Given the description of an element on the screen output the (x, y) to click on. 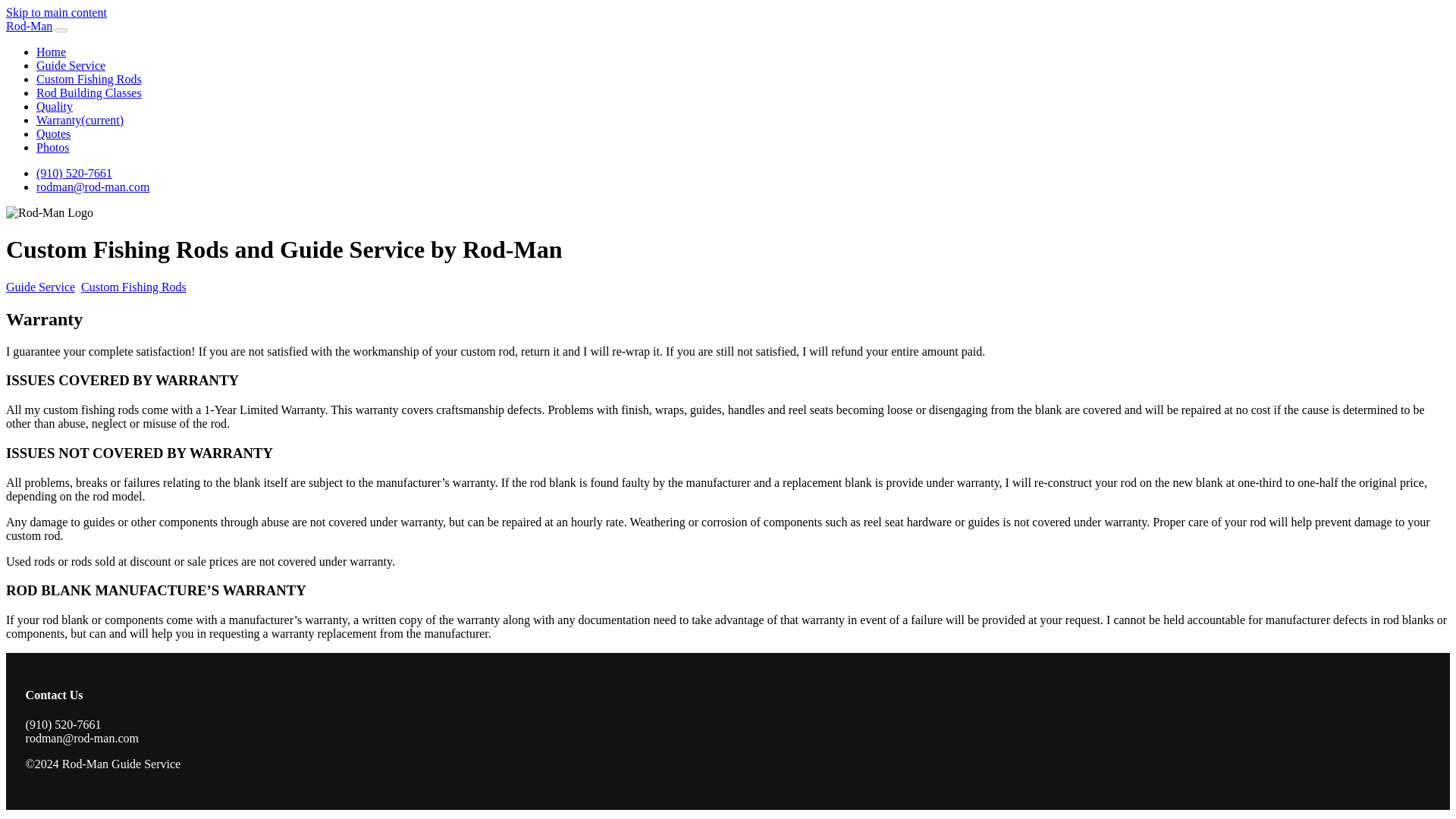
Photos (52, 146)
Rod-Man (28, 25)
Quality (54, 106)
Rod Building Classes (88, 92)
Custom Fishing Rods (133, 286)
Skip to main content (55, 11)
Guide Service (70, 65)
Guide Service (40, 286)
Quotes (52, 133)
Home (50, 51)
Custom Fishing Rods (88, 78)
